Given the description of an element on the screen output the (x, y) to click on. 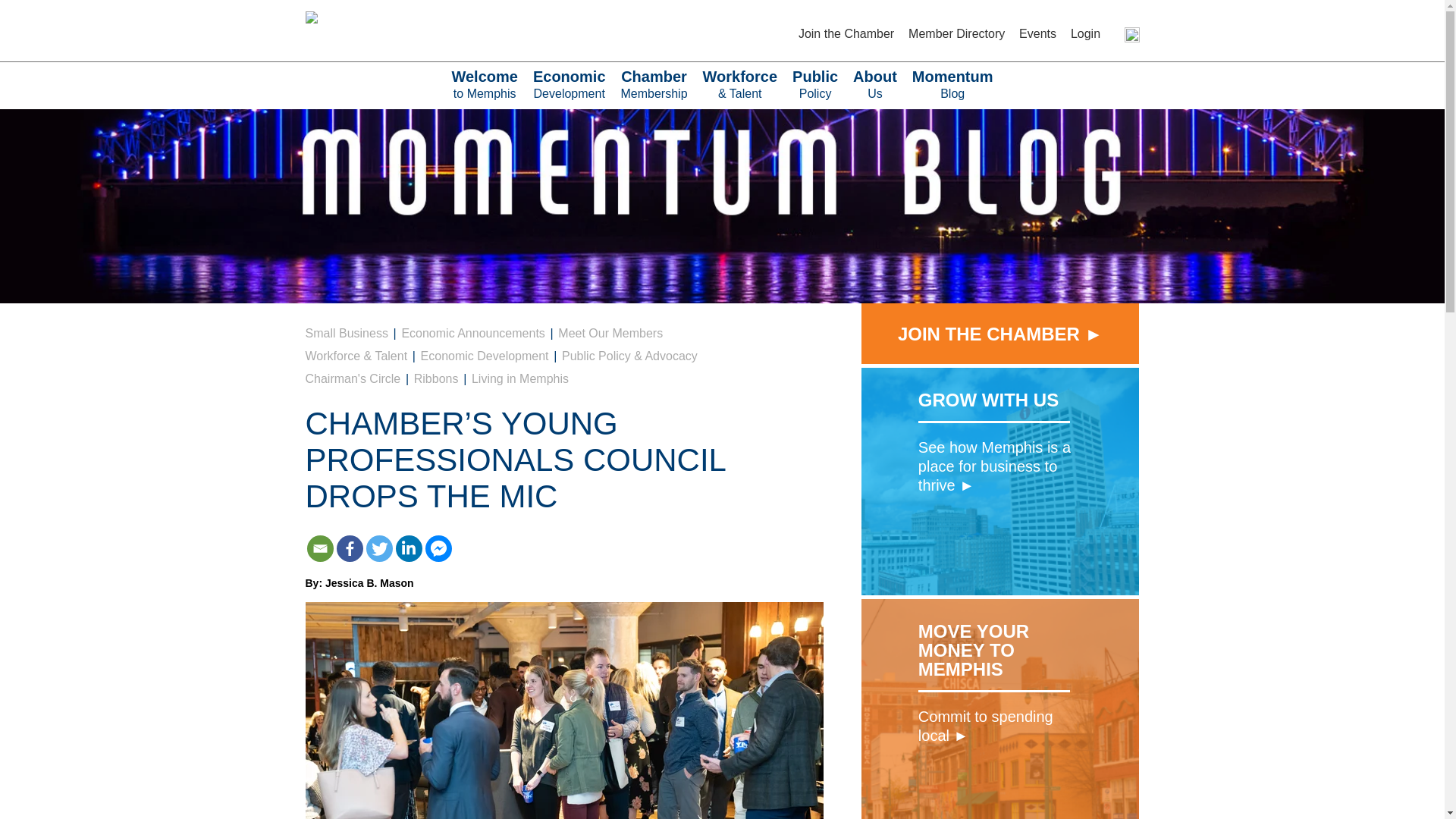
Twitter (653, 84)
Facebook Messenger (378, 548)
Facebook (568, 84)
Email (438, 548)
Linkedin (349, 548)
